Given the description of an element on the screen output the (x, y) to click on. 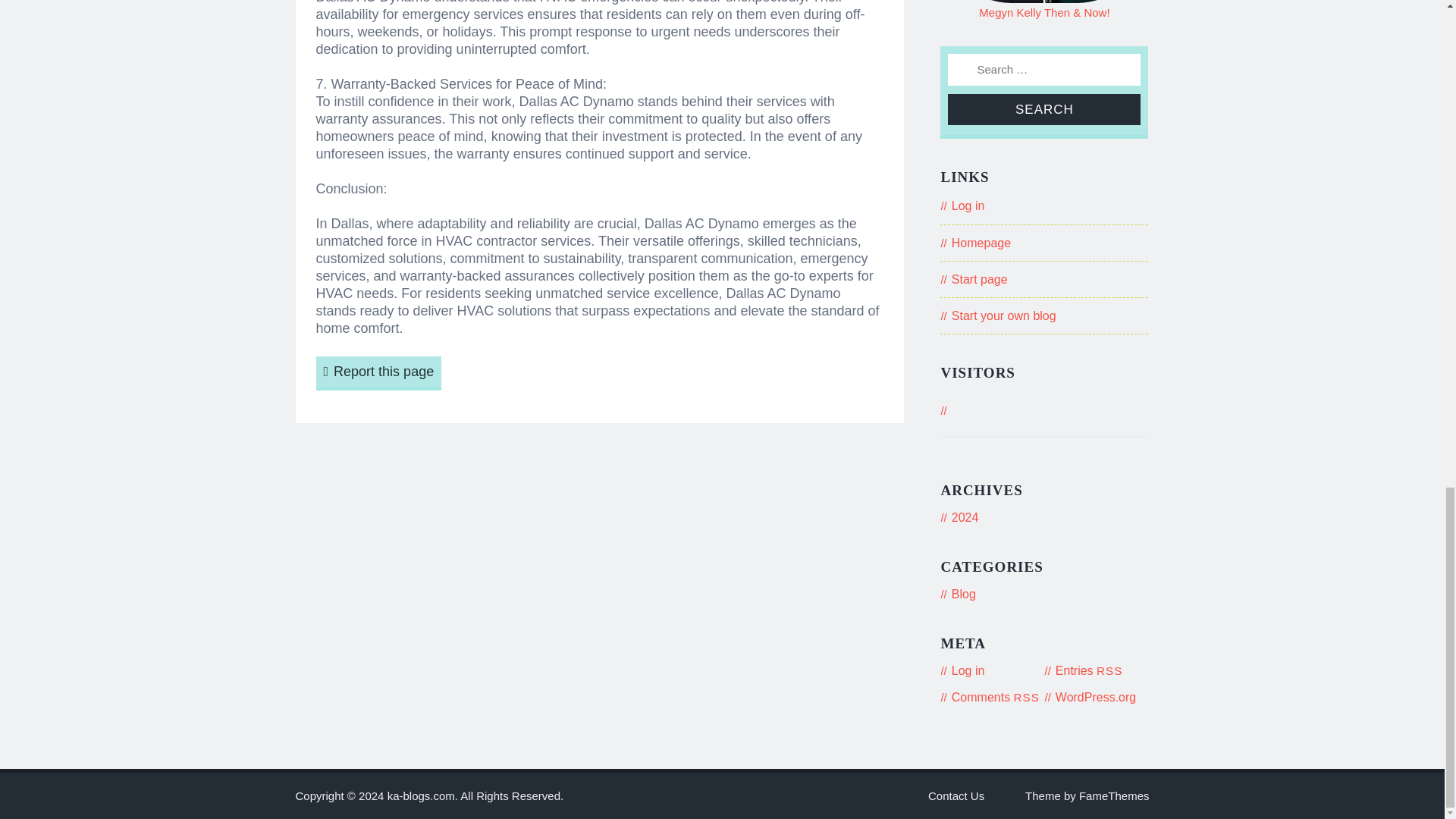
Really Simple Syndication (1026, 697)
Comments RSS (995, 697)
WordPress.org (1095, 697)
Log in (968, 205)
Search (1043, 109)
Blog (963, 594)
Search (1043, 109)
Entries RSS (1088, 670)
Report this page (378, 373)
Really Simple Syndication (1109, 670)
Start page (979, 278)
Log in (968, 670)
Start your own blog (1004, 315)
Search (1043, 109)
